Given the description of an element on the screen output the (x, y) to click on. 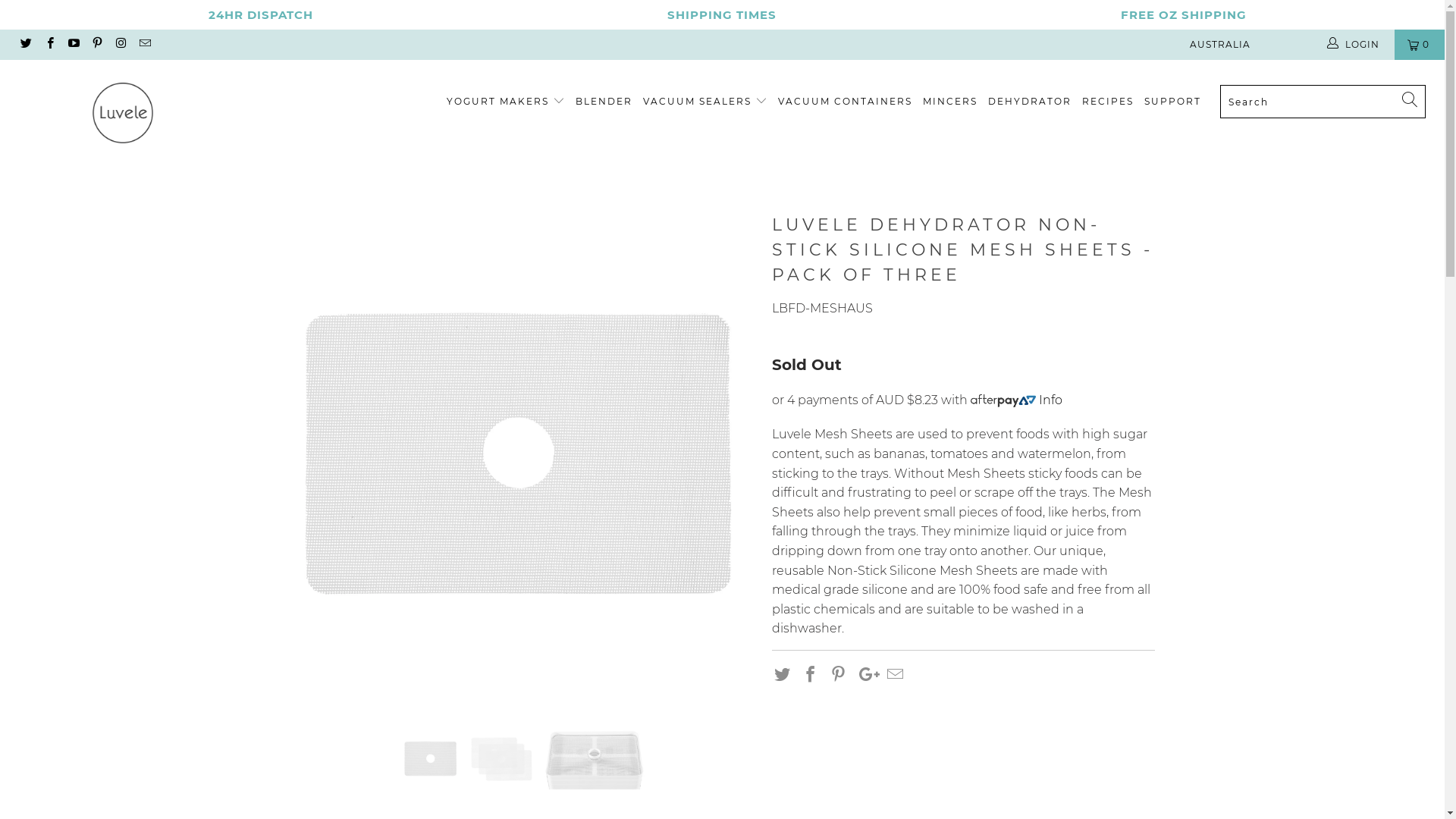
BLENDER Element type: text (603, 101)
0 Element type: text (1419, 44)
SHIPPING TIMES Element type: text (721, 14)
YOGURT MAKERS Element type: text (505, 101)
RECIPES Element type: text (1107, 101)
Share this on Google+ Element type: hover (866, 675)
Email this to a friend Element type: hover (895, 675)
Luvele AU on Pinterest Element type: hover (96, 44)
Luvele AU on Instagram Element type: hover (119, 44)
AUSTRALIA Element type: text (1246, 44)
SUPPORT Element type: text (1172, 101)
VACUUM SEALERS Element type: text (705, 101)
VACUUM CONTAINERS Element type: text (845, 101)
Luvele AU Element type: hover (123, 115)
MINCERS Element type: text (949, 101)
Share this on Twitter Element type: hover (782, 675)
Luvele AU on Facebook Element type: hover (48, 44)
Info Element type: text (1050, 399)
Luvele AU on Twitter Element type: hover (24, 44)
Share this on Facebook Element type: hover (810, 675)
DEHYDRATOR Element type: text (1029, 101)
Share this on Pinterest Element type: hover (838, 675)
Luvele AU on YouTube Element type: hover (72, 44)
Email Luvele AU Element type: hover (143, 44)
LOGIN Element type: text (1354, 44)
